Given the description of an element on the screen output the (x, y) to click on. 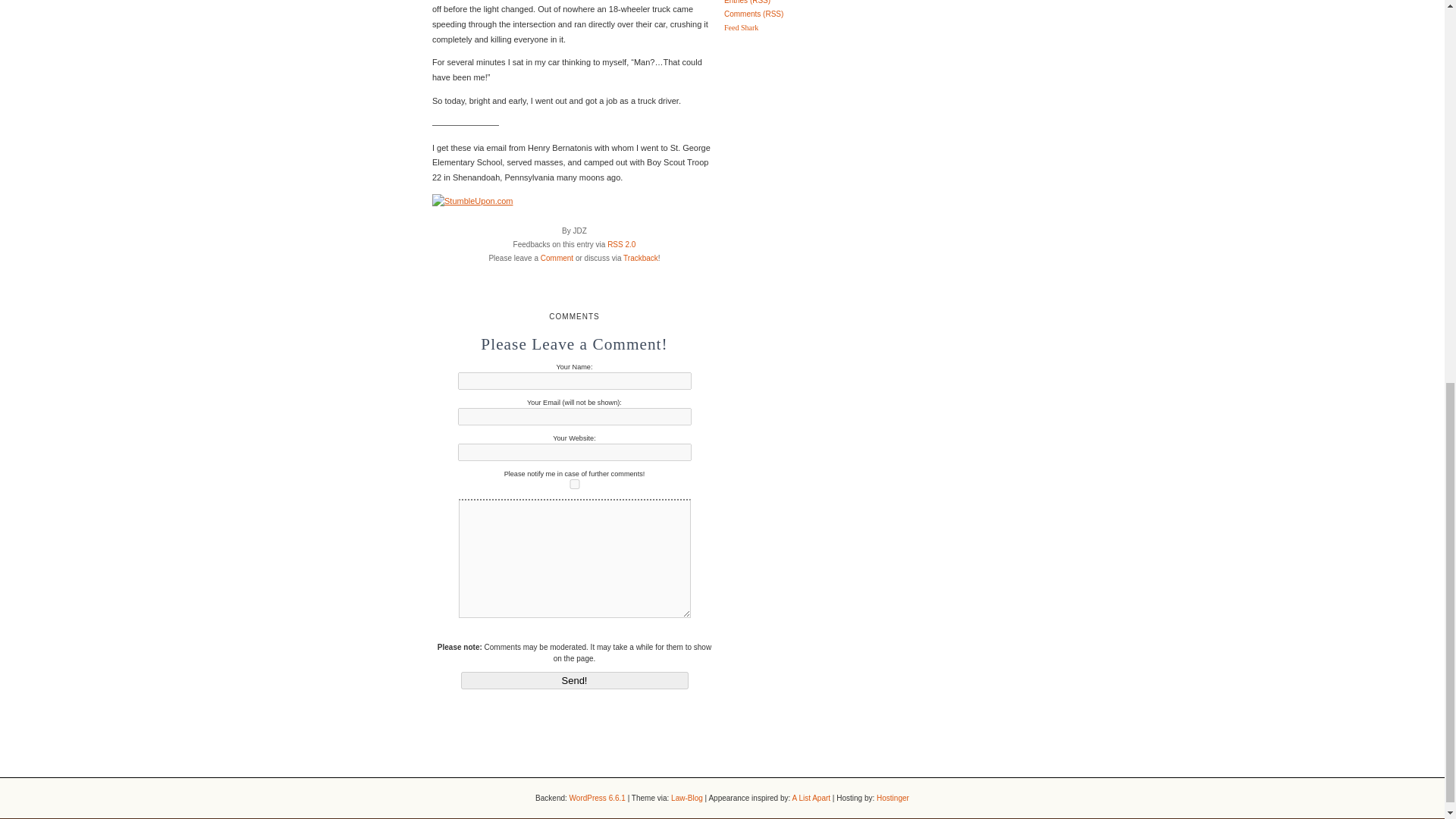
Comment (556, 257)
Hostinger (892, 797)
WordPress 6.6.1 (597, 797)
Send! (574, 680)
RSS 2.0 (620, 244)
Feed Shark (740, 27)
subscribe (574, 483)
A List Apart (810, 797)
Trackback (640, 257)
Law-Blog (687, 797)
